Given the description of an element on the screen output the (x, y) to click on. 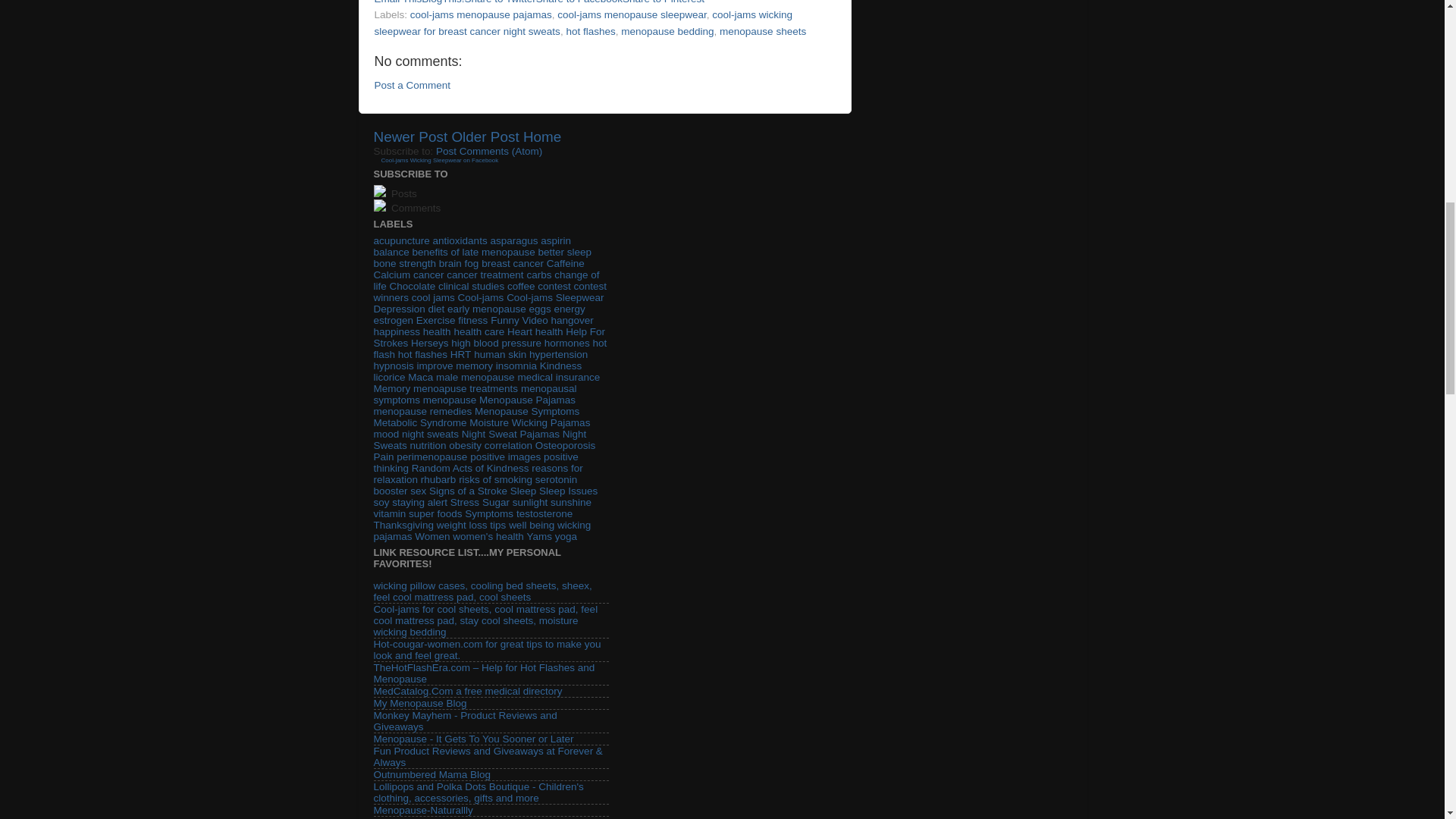
Share to Pinterest (663, 2)
acupuncture (400, 240)
cool-jams wicking sleepwear for breast cancer night sweats (583, 22)
Share to Pinterest (663, 2)
Post a Comment (412, 84)
antioxidants (459, 240)
cool-jams menopause pajamas (480, 14)
Share to Facebook (579, 2)
menopause sheets (762, 30)
hot flashes (590, 30)
better sleep (564, 251)
benefits of late menopause (473, 251)
asparagus (513, 240)
balance (390, 251)
Cool-jams Wicking Sleepwear on Facebook (438, 160)
